Given the description of an element on the screen output the (x, y) to click on. 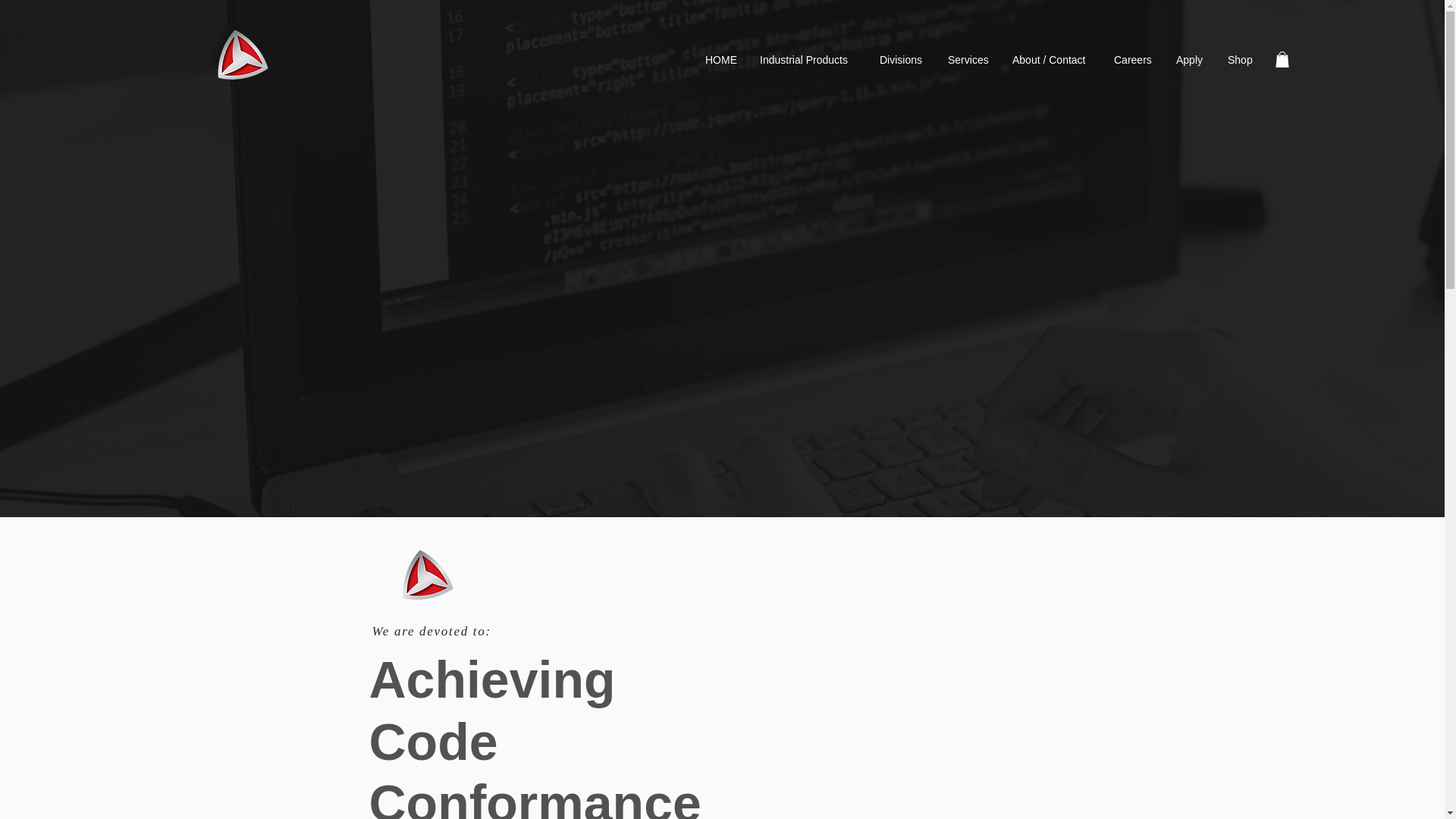
Careers (1133, 59)
Apply (1189, 59)
Divisions (901, 59)
Industrial Products (807, 59)
HOME (721, 59)
Services (968, 59)
Shop (1240, 59)
